Given the description of an element on the screen output the (x, y) to click on. 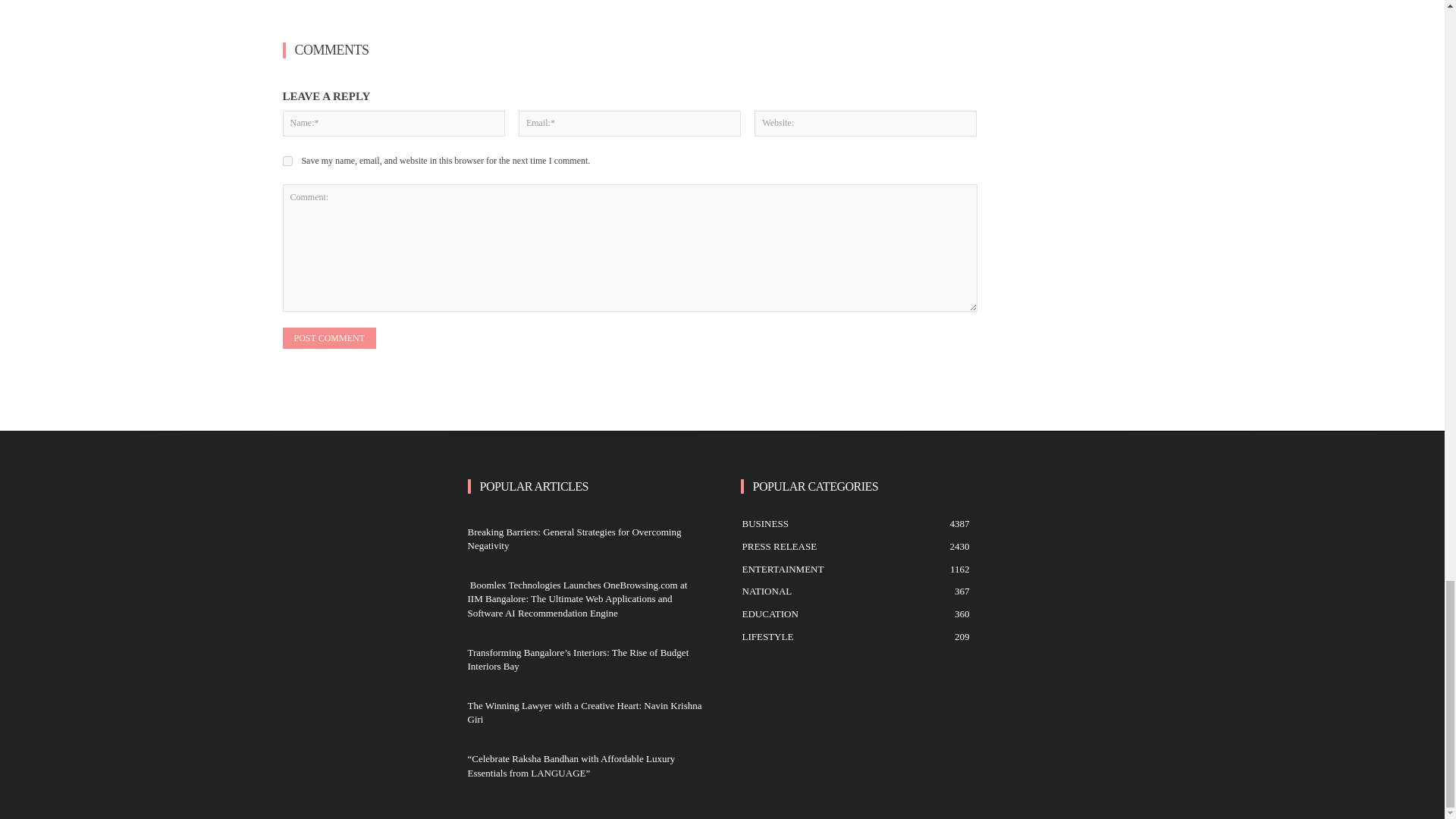
Post Comment (328, 337)
yes (287, 161)
